Given the description of an element on the screen output the (x, y) to click on. 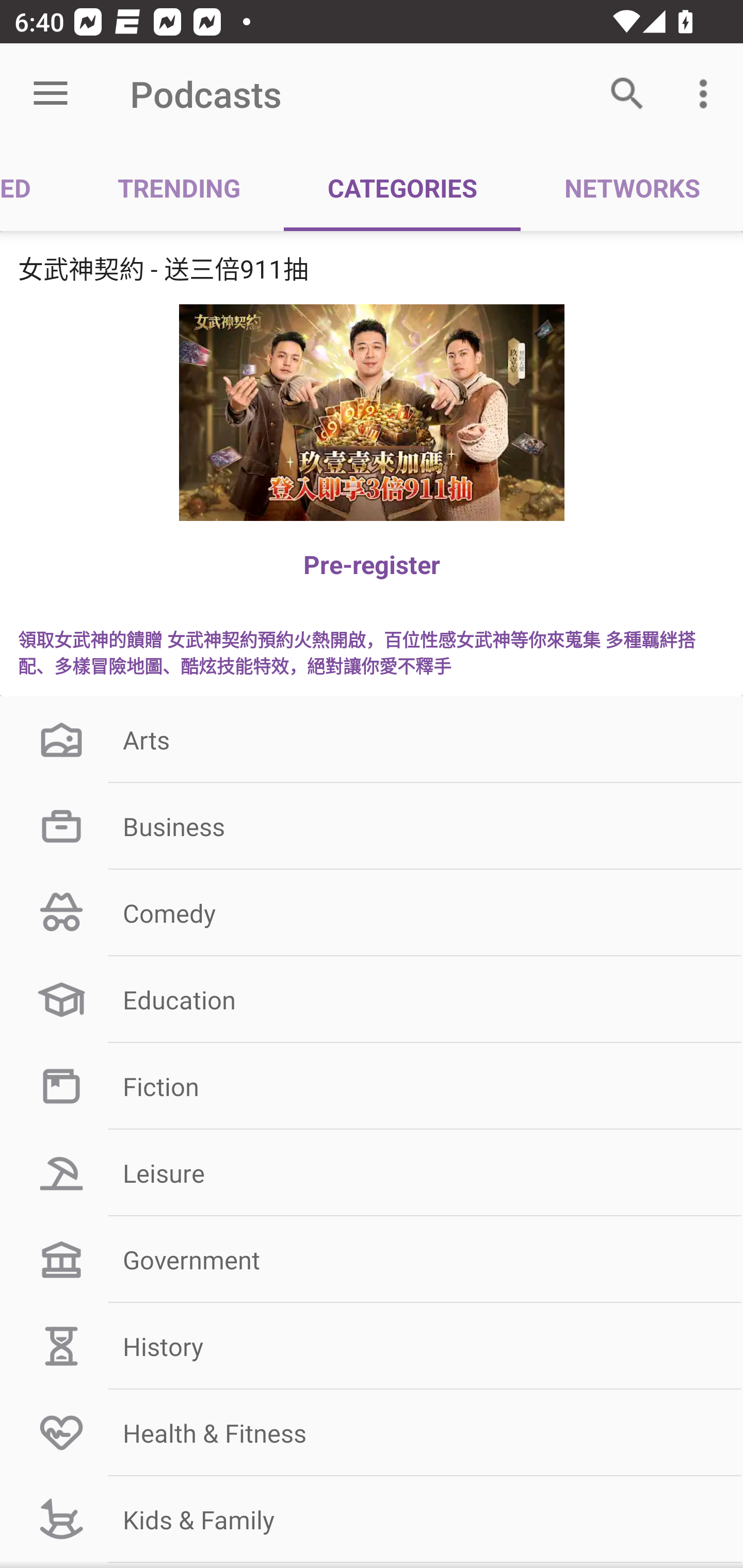
Open menu (50, 93)
Search (626, 93)
More options (706, 93)
TRENDING (178, 187)
CATEGORIES (401, 187)
NETWORKS (631, 187)
女武神契約 - 送三倍911抽 (371, 267)
Pre-register (371, 564)
Arts (371, 739)
Business (371, 826)
Comedy (371, 913)
Education (371, 999)
Fiction (371, 1085)
Leisure (371, 1172)
Government (371, 1259)
History (371, 1346)
Health & Fitness (371, 1432)
Kids & Family (371, 1519)
